Given the description of an element on the screen output the (x, y) to click on. 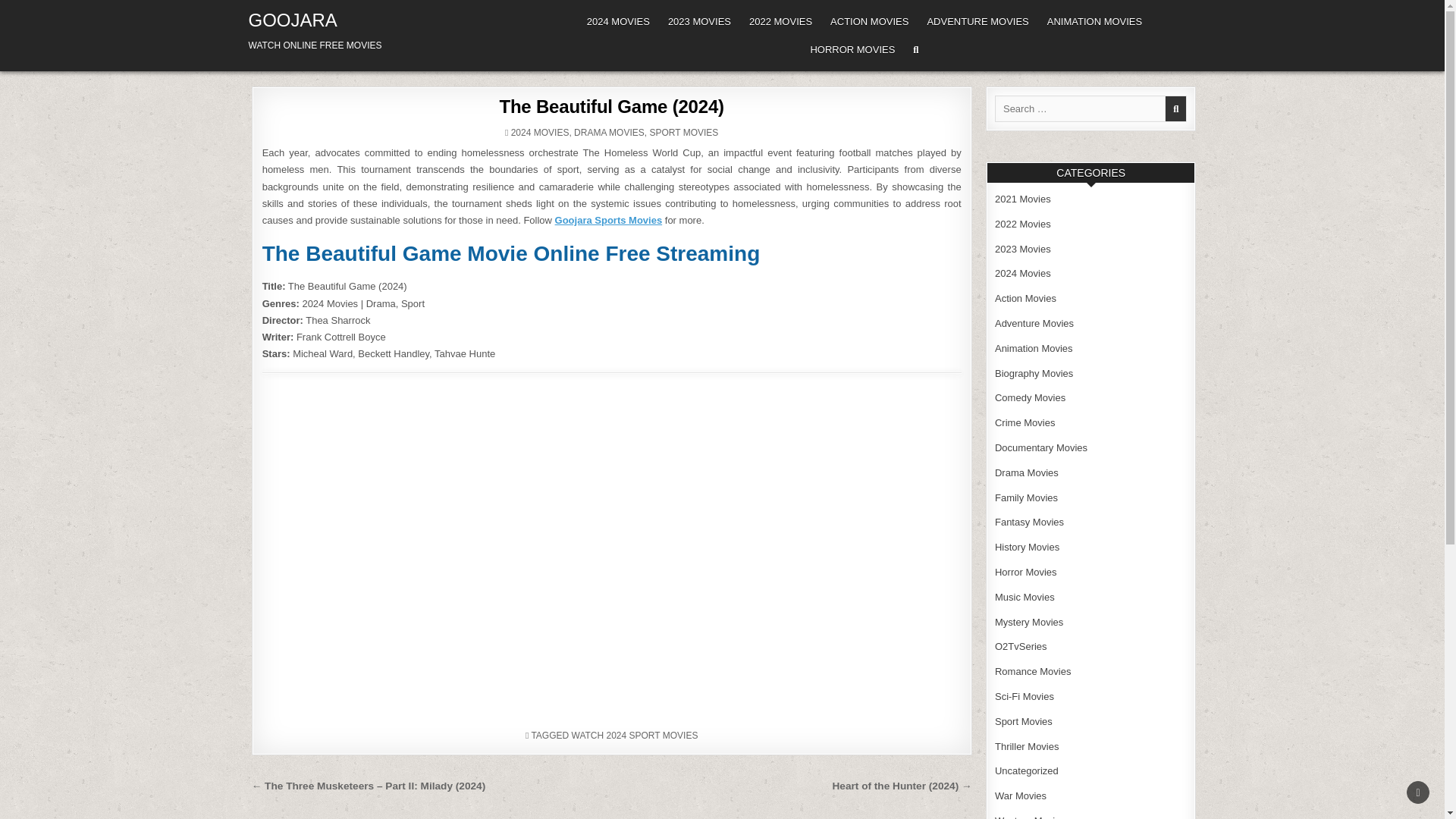
Biography Movies (1033, 373)
Horror Movies (1025, 572)
Animation Movies (1033, 348)
Drama Movies (1026, 472)
2022 Movies (1022, 224)
SCROLL TO TOP (1417, 792)
Mystery Movies (1028, 622)
2023 MOVIES (699, 21)
ANIMATION MOVIES (1094, 21)
Family Movies (1026, 497)
2022 MOVIES (780, 21)
SCROLL TO TOP (1417, 792)
ACTION MOVIES (869, 21)
Action Movies (1025, 297)
SPORT MOVIES (683, 132)
